Given the description of an element on the screen output the (x, y) to click on. 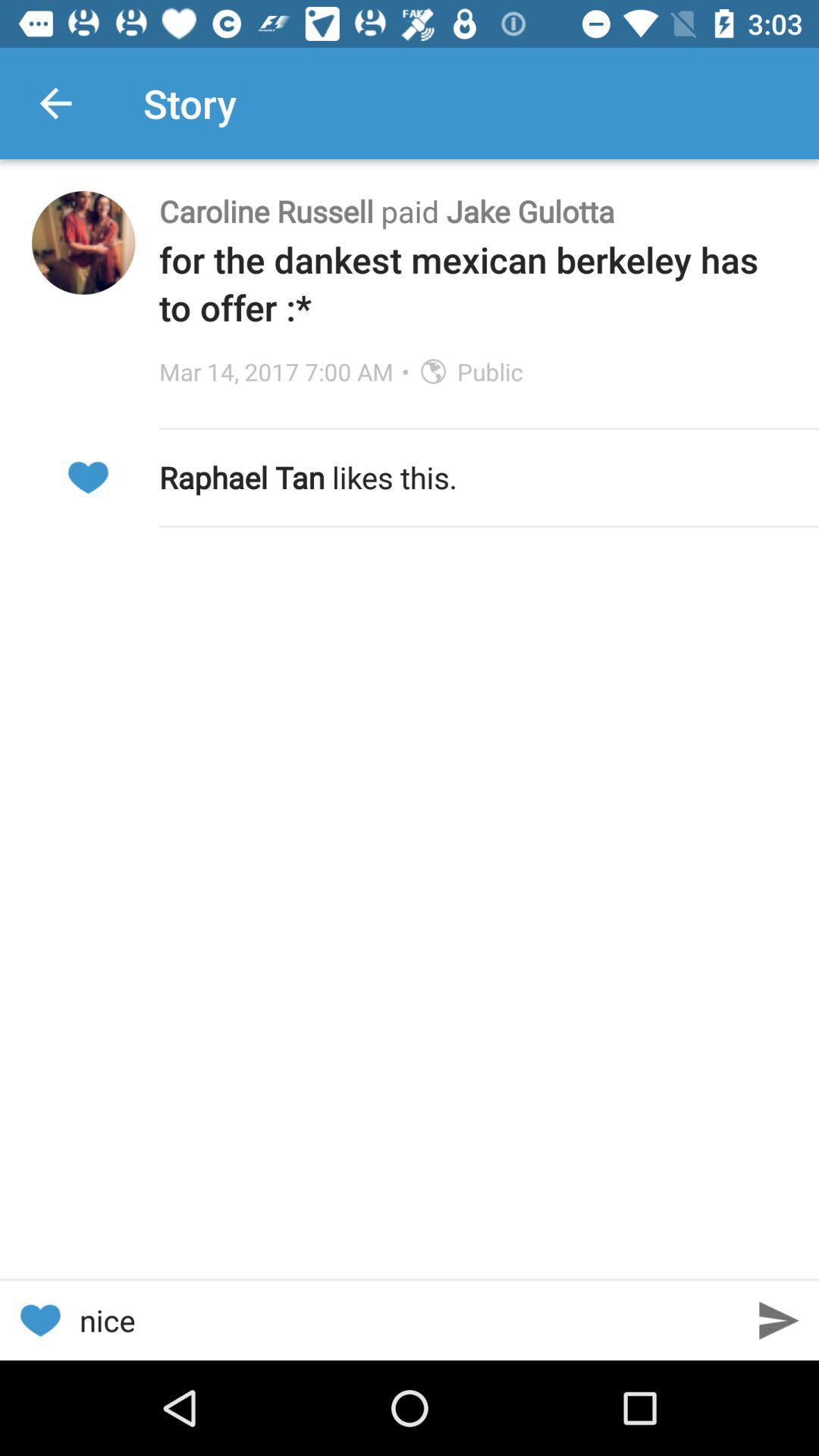
swipe until raphael tan likes item (473, 477)
